Given the description of an element on the screen output the (x, y) to click on. 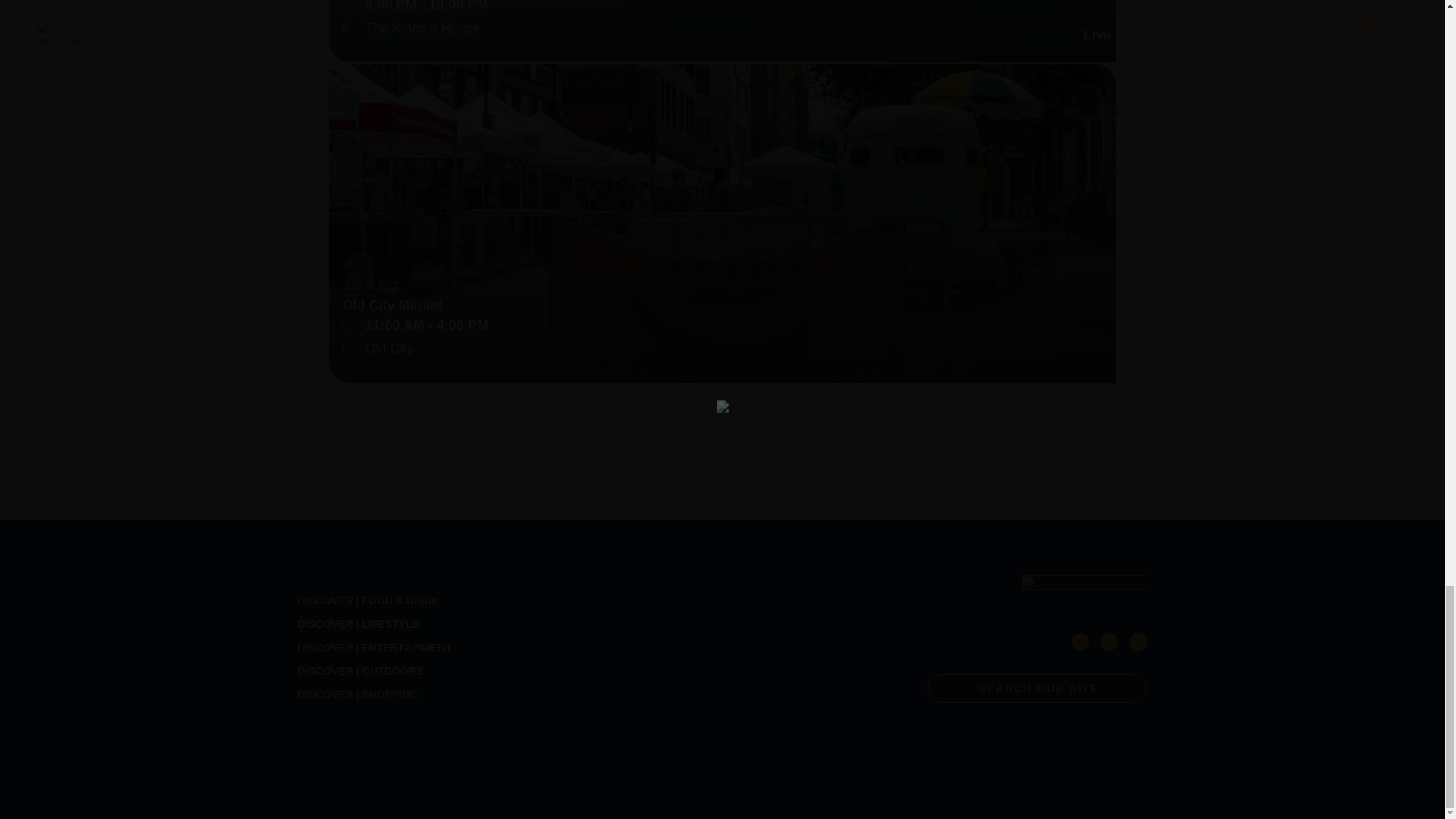
Asset 2 (1083, 591)
Follow on Facebook (1080, 641)
Follow on Instagram (1138, 641)
Follow on Pinterest (1109, 641)
